Given the description of an element on the screen output the (x, y) to click on. 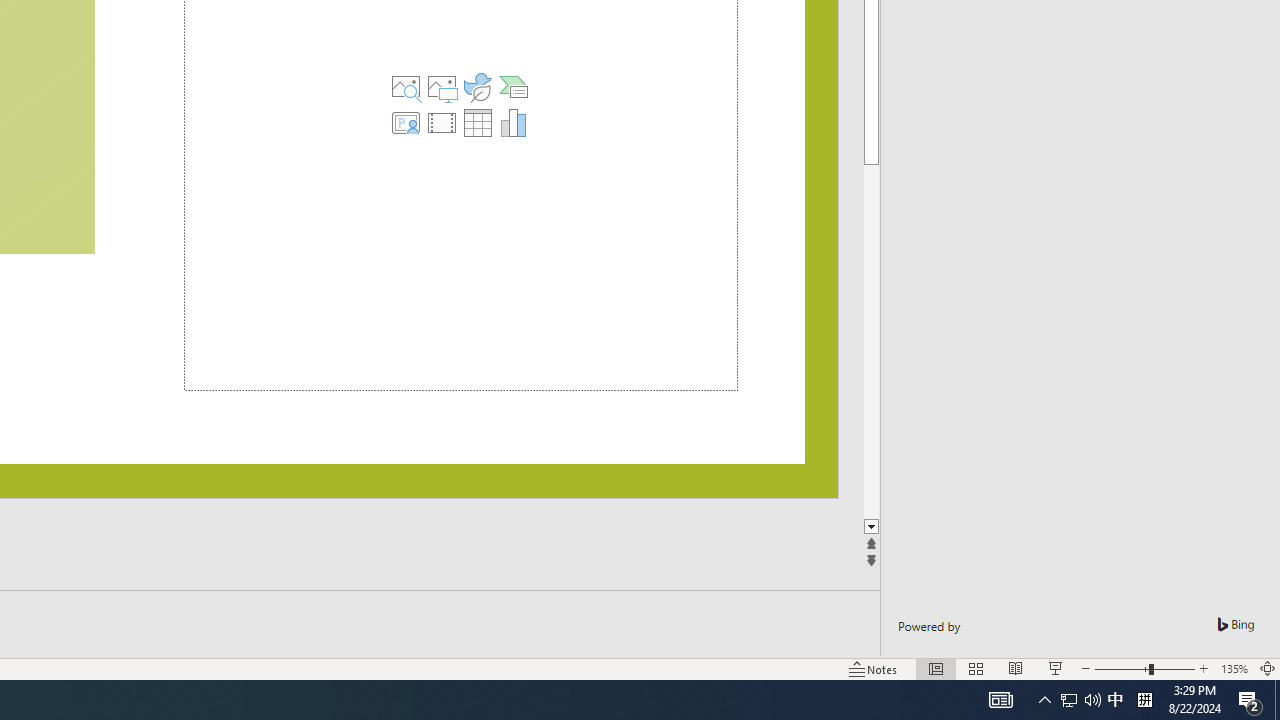
Reading View (1015, 668)
Stock Images (406, 86)
Page down (873, 342)
Normal (936, 668)
Zoom Out (1121, 668)
Line down (873, 528)
Insert Table (478, 122)
Insert Chart (513, 122)
Insert Video (442, 122)
Insert an Icon (478, 86)
Zoom to Fit  (1267, 668)
Insert a SmartArt Graphic (513, 86)
Insert Cameo (406, 122)
Zoom In (1204, 668)
